Given the description of an element on the screen output the (x, y) to click on. 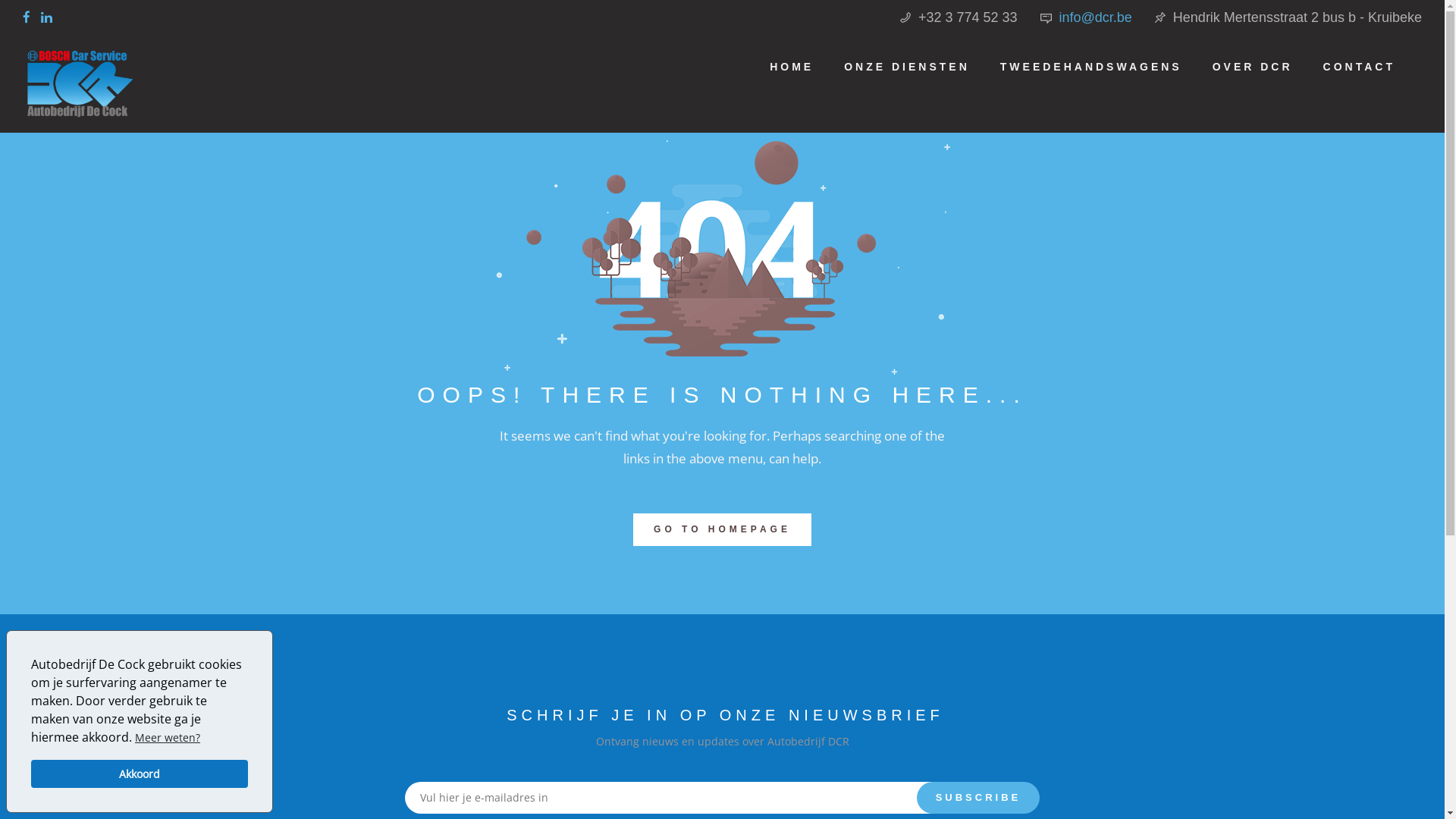
CONTACT Element type: text (1359, 66)
404 Element type: hover (721, 243)
info@dcr.be Element type: text (1095, 17)
LinkedIn Element type: hover (49, 15)
HOME Element type: text (791, 66)
OVER DCR Element type: text (1252, 66)
ONZE DIENSTEN Element type: text (906, 66)
Akkoord Element type: text (139, 773)
Subscribe Element type: text (978, 797)
Facebook Element type: hover (29, 15)
TWEEDEHANDSWAGENS Element type: text (1091, 66)
Meer weten? Element type: text (167, 737)
GO TO HOMEPAGE Element type: text (722, 529)
